Given the description of an element on the screen output the (x, y) to click on. 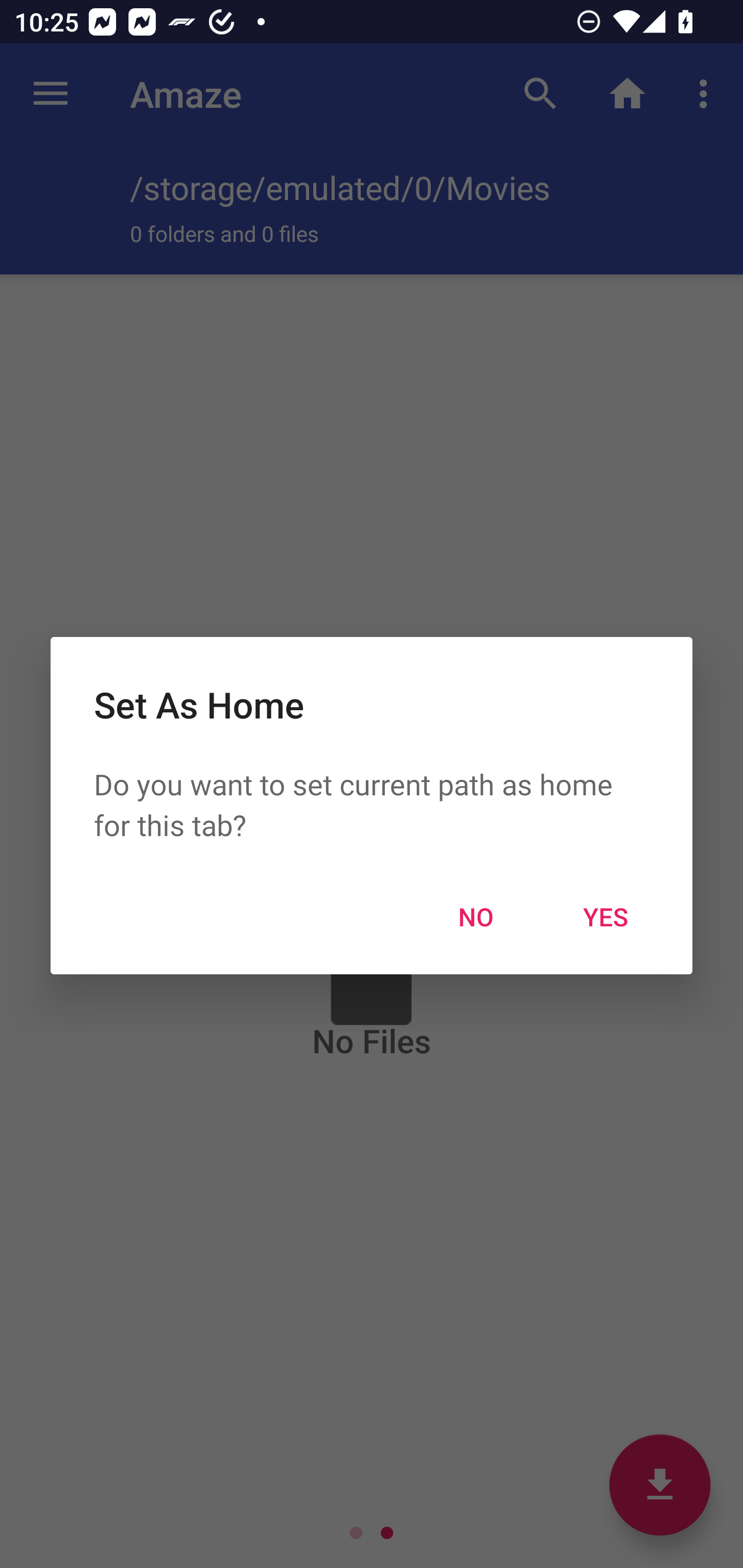
NO (475, 916)
YES (605, 916)
